Given the description of an element on the screen output the (x, y) to click on. 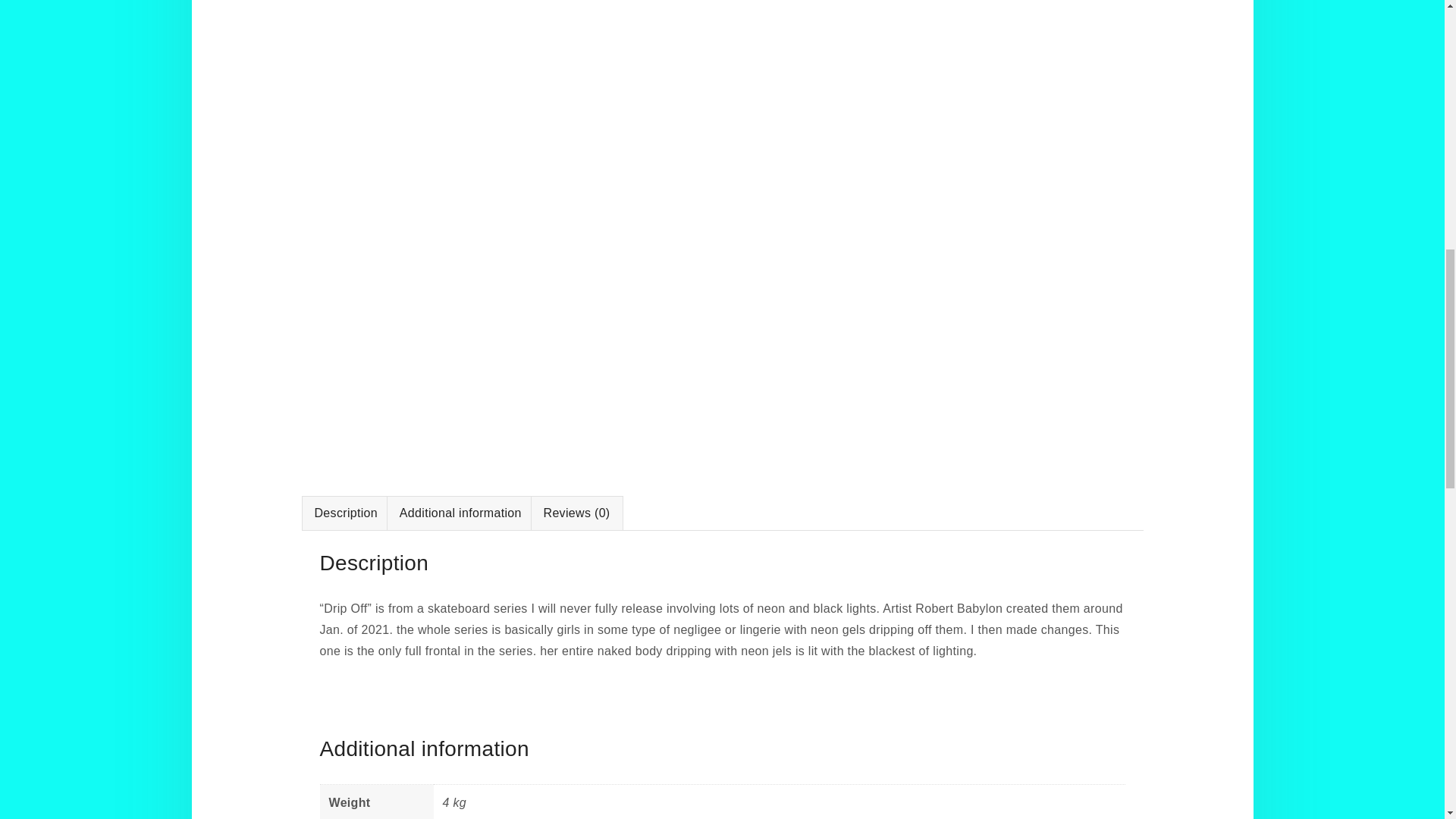
Description (345, 512)
Additional information (459, 512)
